Given the description of an element on the screen output the (x, y) to click on. 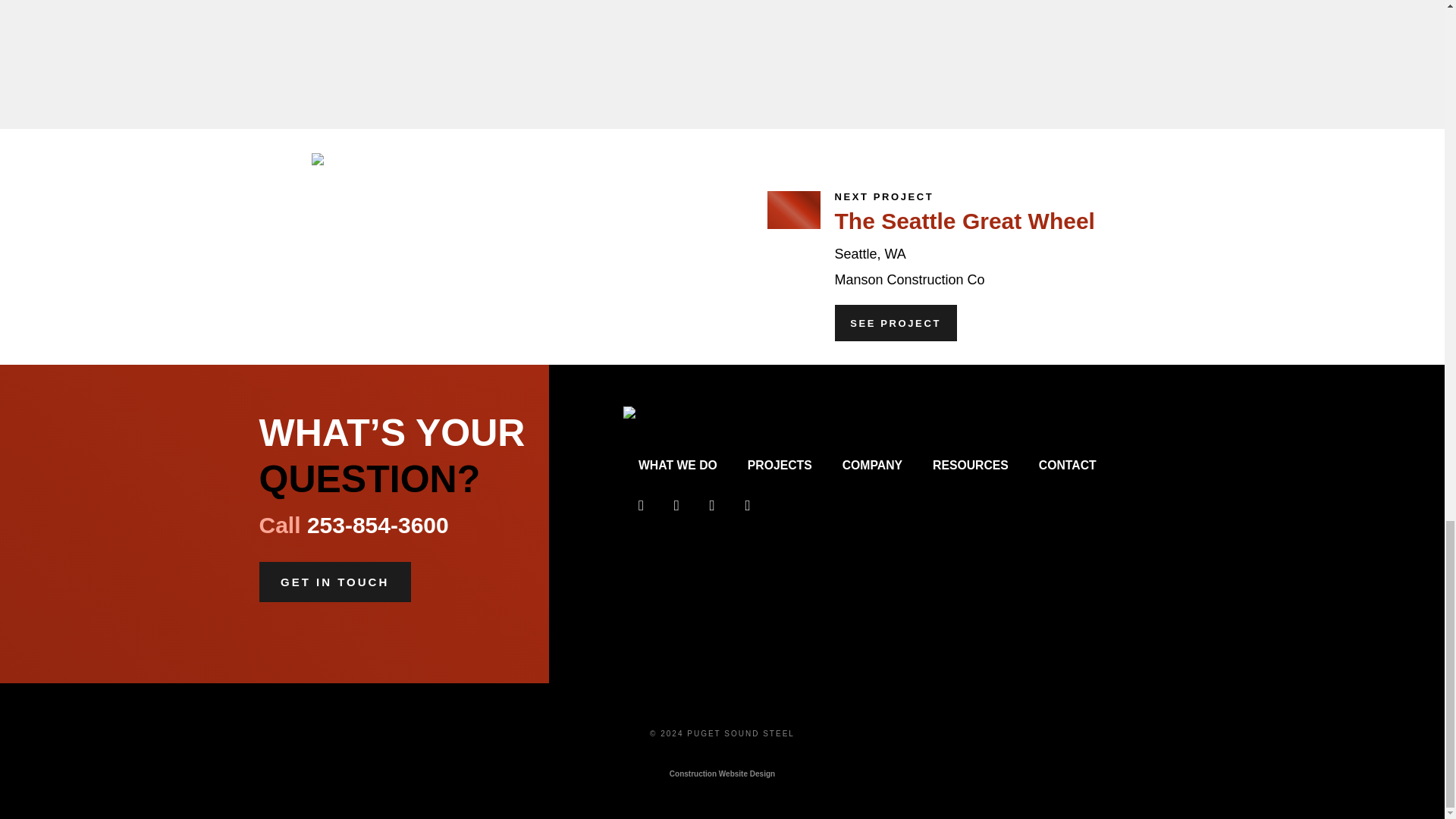
SEE PROJECT (895, 323)
Construction Website Design (722, 781)
GET IN TOUCH (334, 581)
253-854-3600 (377, 524)
